Given the description of an element on the screen output the (x, y) to click on. 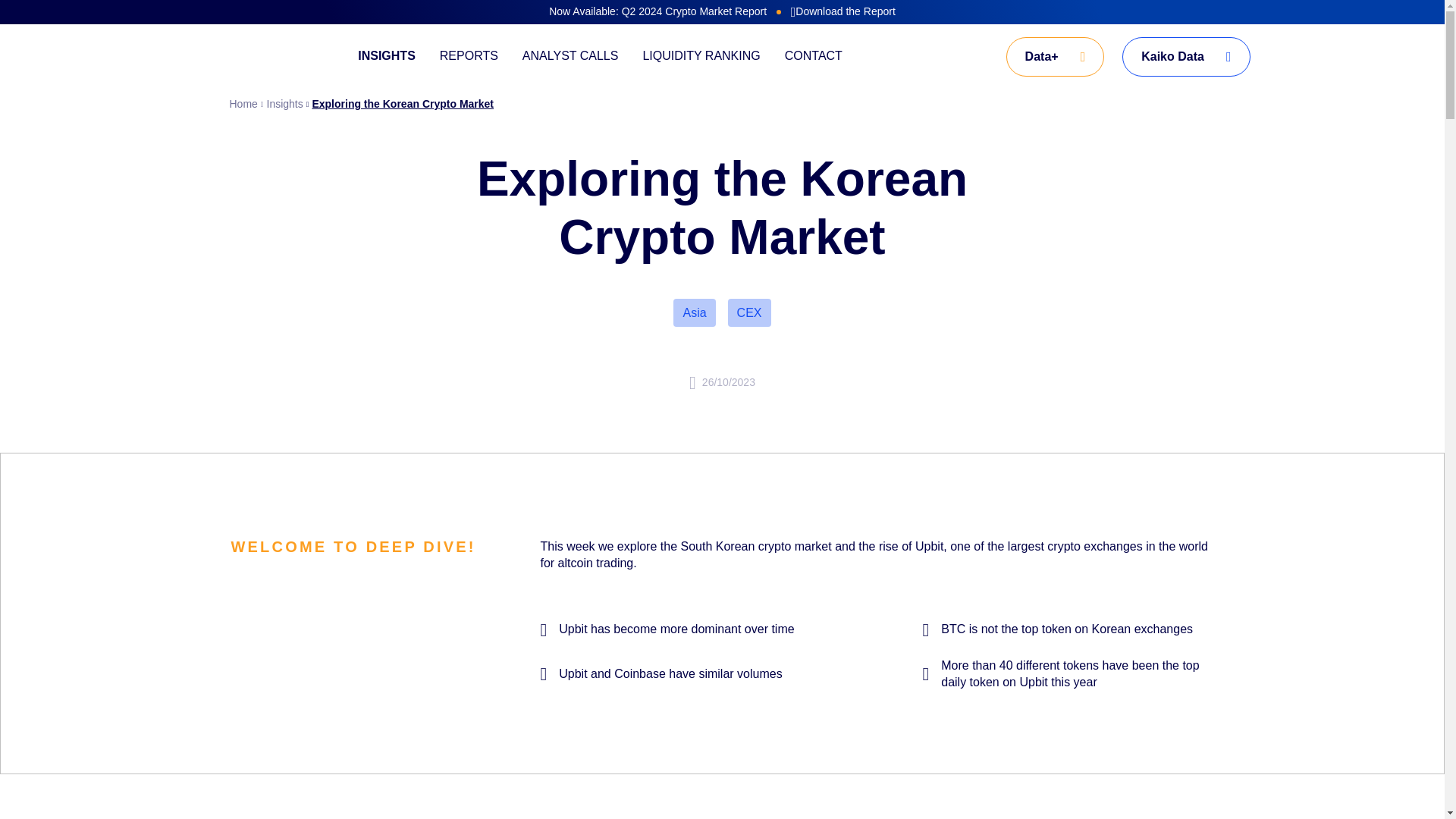
ANALYST CALLS (570, 56)
LIQUIDITY RANKING (701, 56)
Kaiko Data (1185, 56)
Insights (279, 104)
REPORTS (468, 56)
Download the Report (842, 11)
CONTACT (813, 56)
Riyad Carey (746, 357)
INSIGHTS (386, 56)
Home (242, 104)
